Given the description of an element on the screen output the (x, y) to click on. 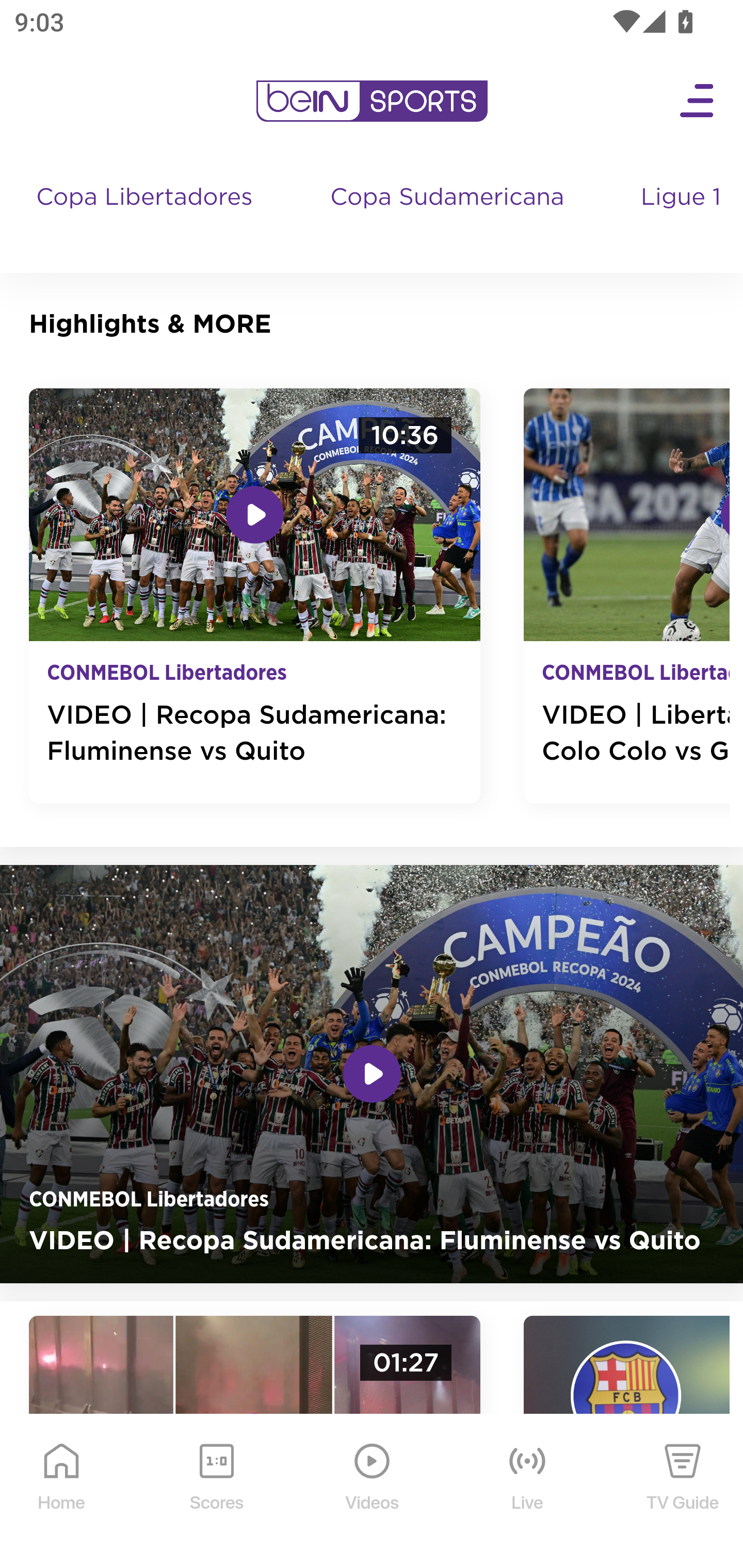
en-us?platform=mobile_android bein logo (371, 101)
Open Menu Icon (697, 101)
Copa Libertadores (146, 216)
Copa Sudamericana (448, 216)
Ligue 1 (682, 216)
Home Home Icon Home (61, 1491)
Scores Scores Icon Scores (216, 1491)
Videos Videos Icon Videos (372, 1491)
TV Guide TV Guide Icon TV Guide (682, 1491)
